Given the description of an element on the screen output the (x, y) to click on. 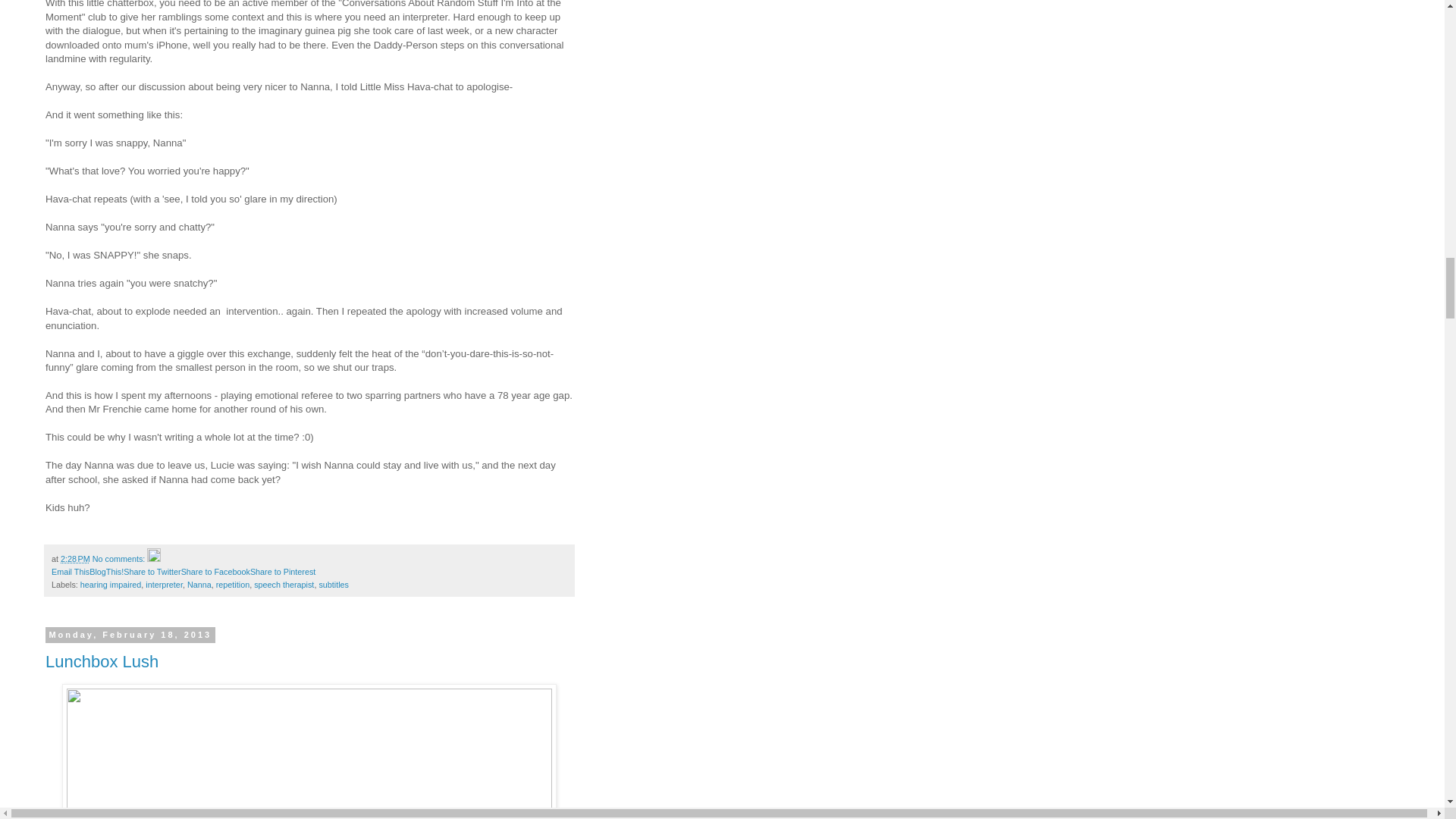
BlogThis! (105, 571)
Share to Twitter (151, 571)
Edit Post (153, 558)
Share to Facebook (215, 571)
Email This (69, 571)
permanent link (75, 558)
